Given the description of an element on the screen output the (x, y) to click on. 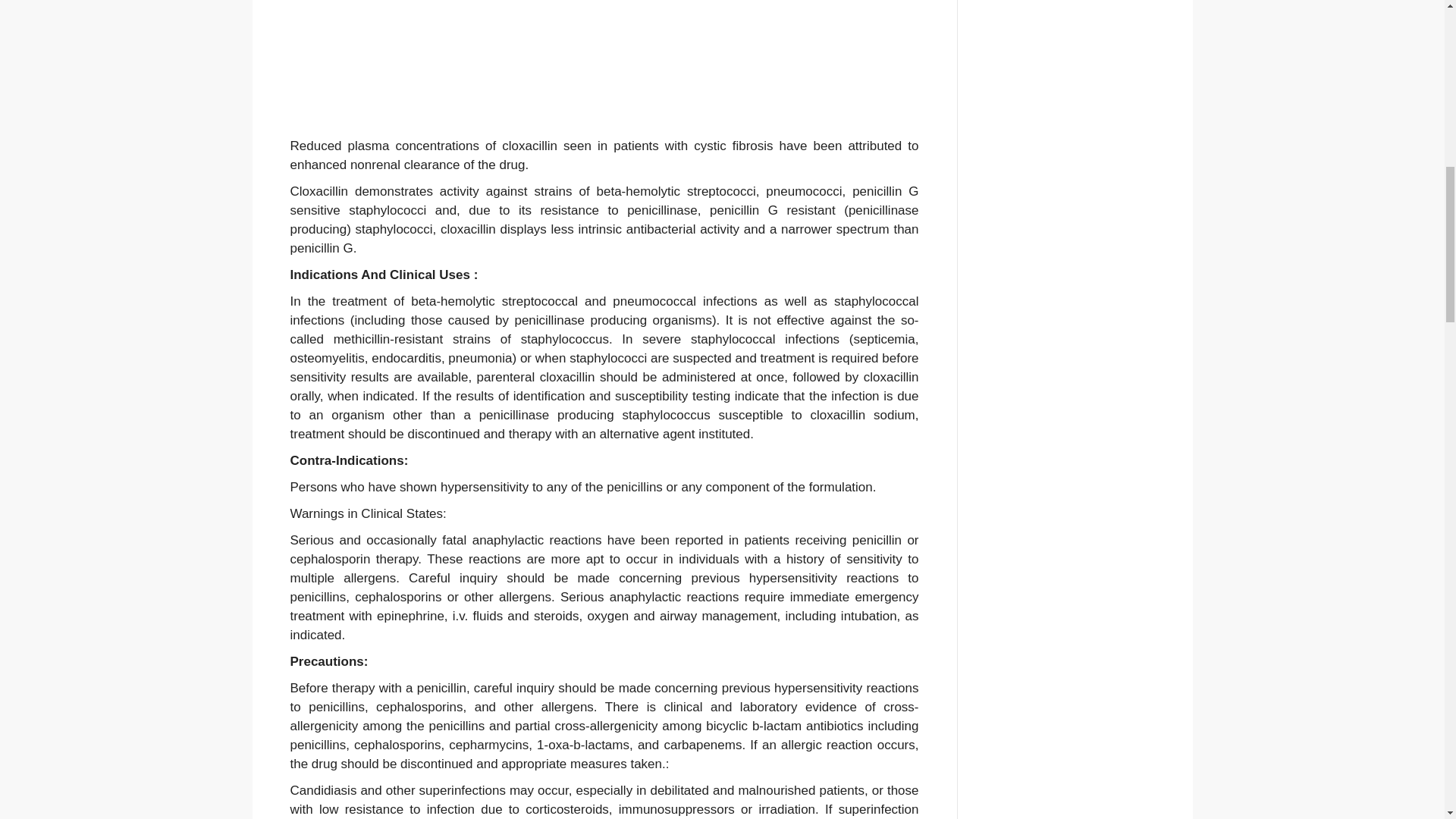
Advertisement (603, 68)
